Given the description of an element on the screen output the (x, y) to click on. 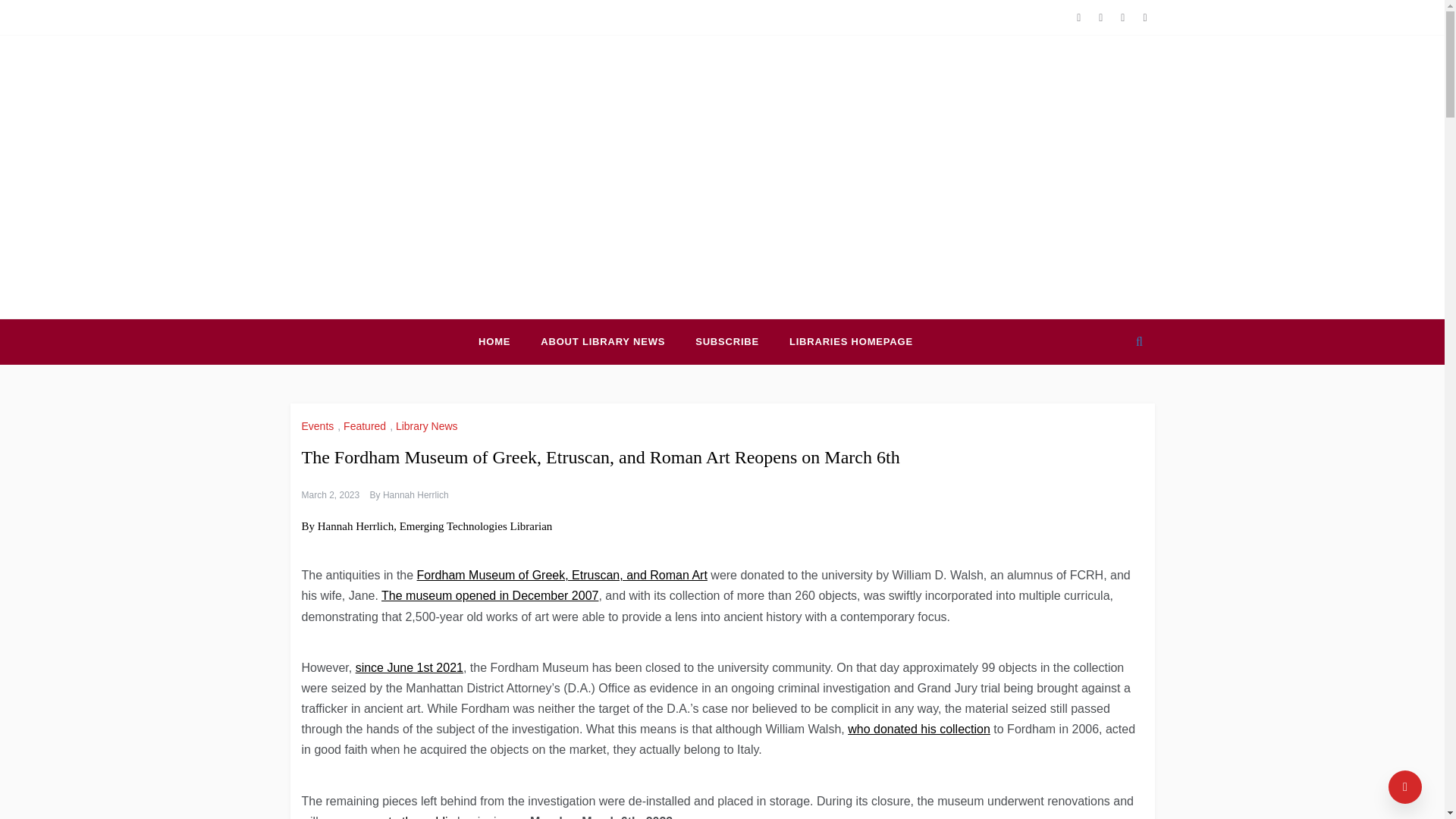
The museum opened in December 2007 (489, 594)
Hannah Herrlich (415, 494)
Library News (428, 426)
March 2, 2023 (330, 494)
reopen to the public (400, 816)
Featured (366, 426)
LIBRARIES HOMEPAGE (843, 341)
SUBSCRIBE (726, 341)
HOME (502, 341)
Fordham Museum of Greek, Etruscan, and Roman Art (561, 574)
